Given the description of an element on the screen output the (x, y) to click on. 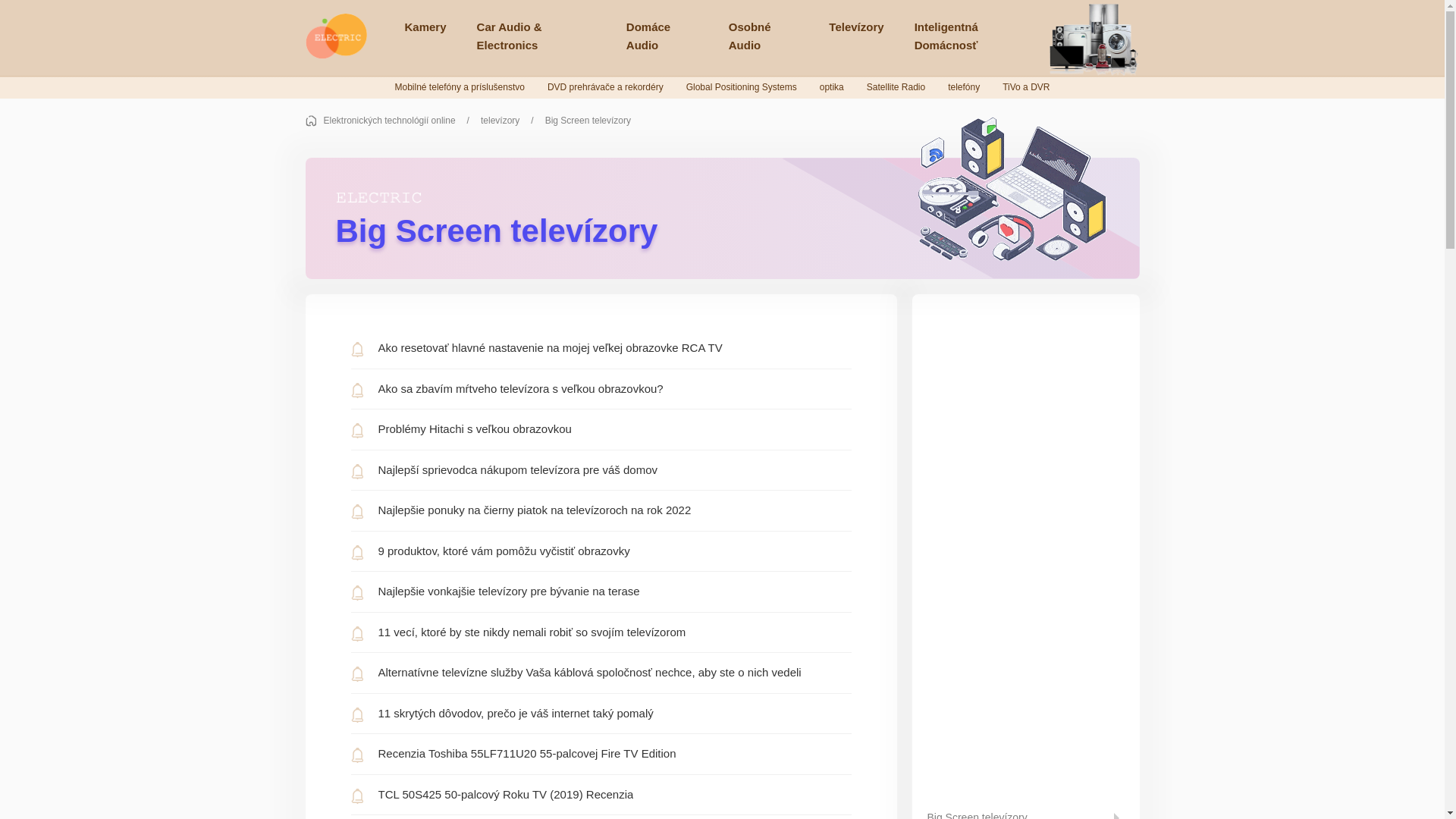
Satellite Radio Element type: text (895, 86)
Advertisement Element type: hover (1024, 536)
Car Audio & Electronics Element type: text (536, 36)
TiVo a DVR Element type: text (1025, 86)
optika Element type: text (831, 86)
Kamery Element type: text (425, 27)
Global Positioning Systems Element type: text (741, 86)
Recenzia Toshiba 55LF711U20 55-palcovej Fire TV Edition Element type: text (600, 753)
